Given the description of an element on the screen output the (x, y) to click on. 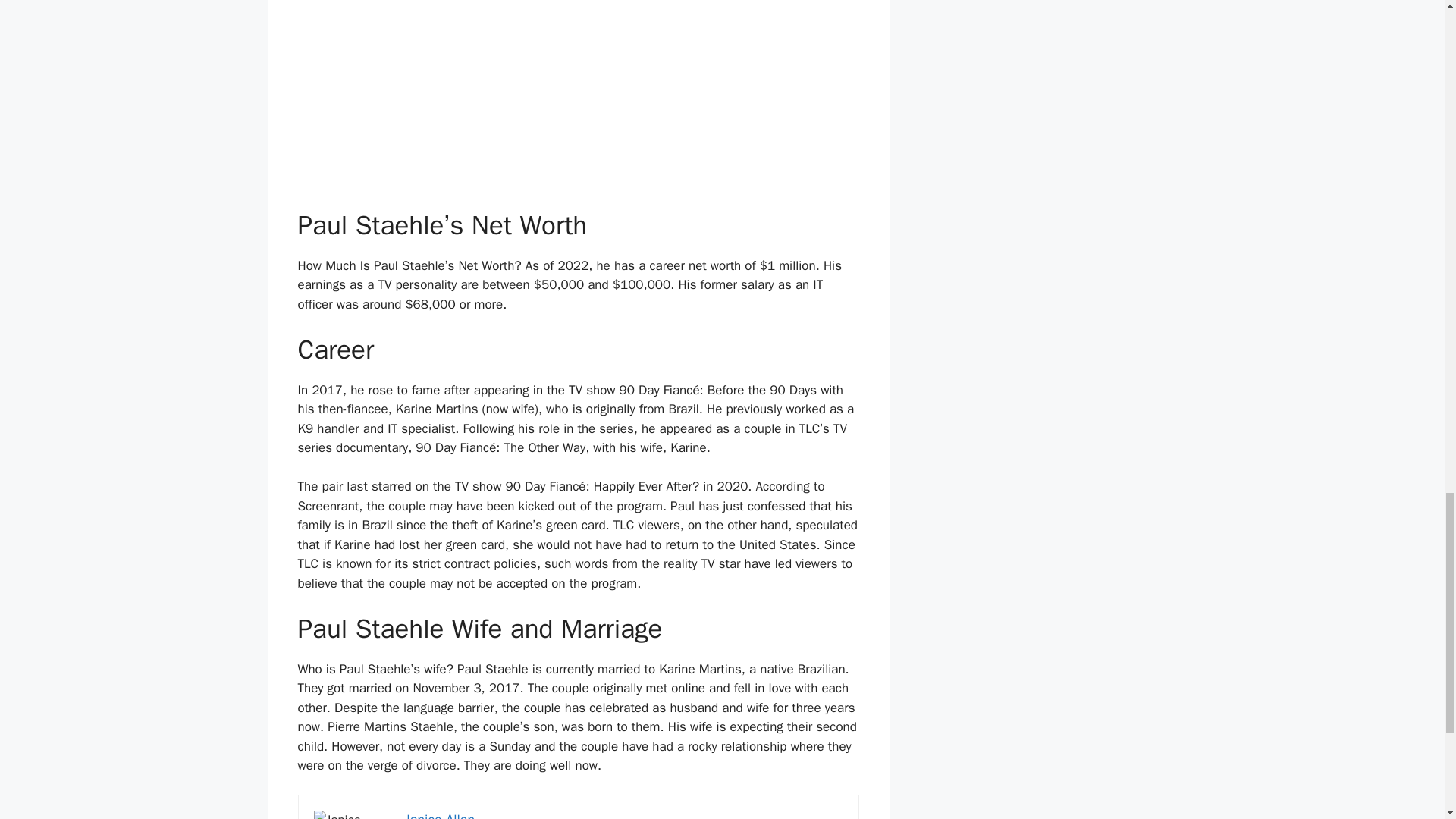
Janice Allen (440, 815)
